Given the description of an element on the screen output the (x, y) to click on. 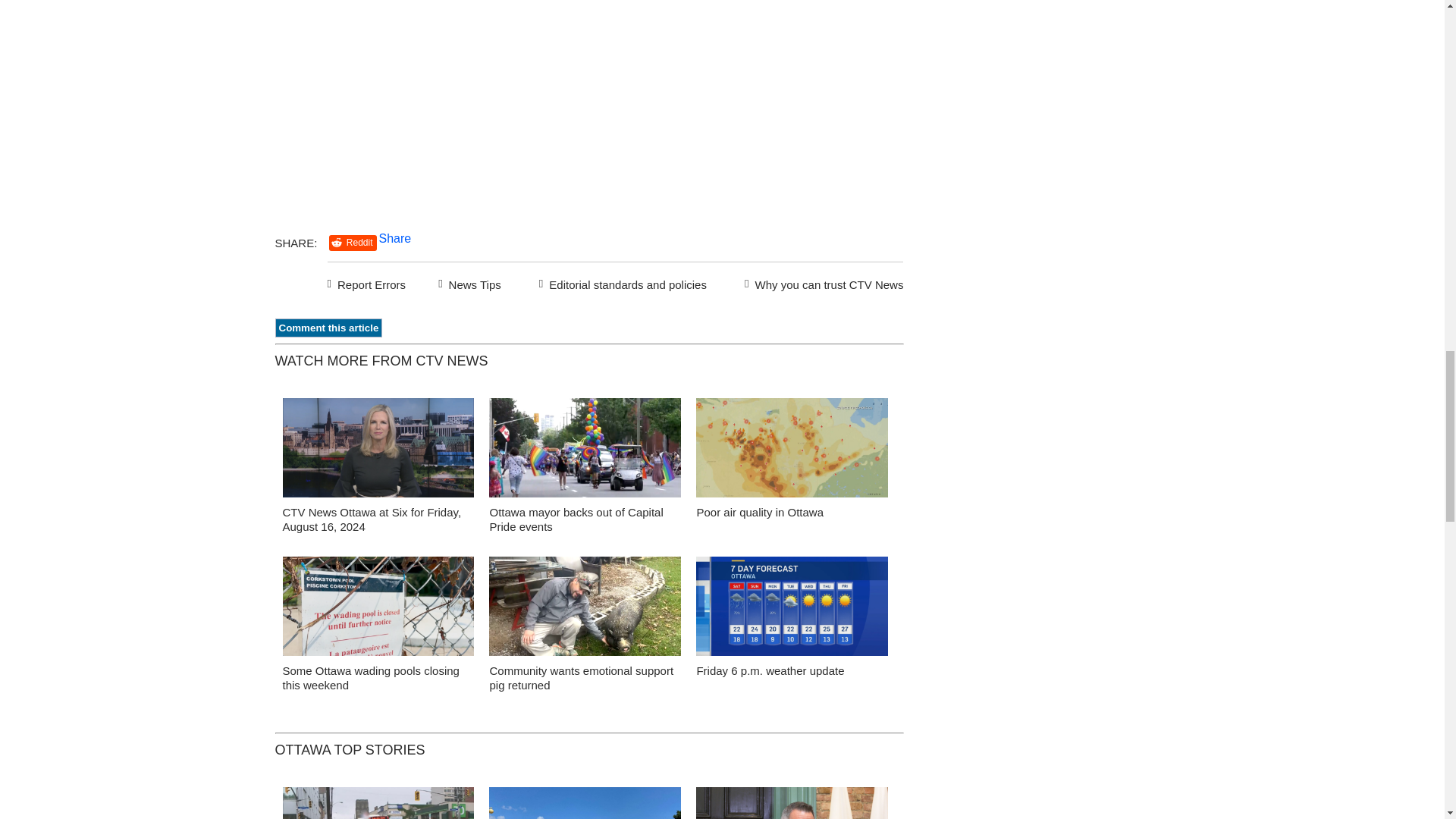
CTV News Ottawa at Six for Friday, August 16, 2024 (371, 519)
Share (395, 237)
Report Errors (366, 282)
Community wants emotional support pig returned (580, 677)
Why you can trust CTV News (820, 282)
false (585, 447)
false (585, 606)
false (791, 447)
false (378, 606)
Comment this article (328, 327)
